Given the description of an element on the screen output the (x, y) to click on. 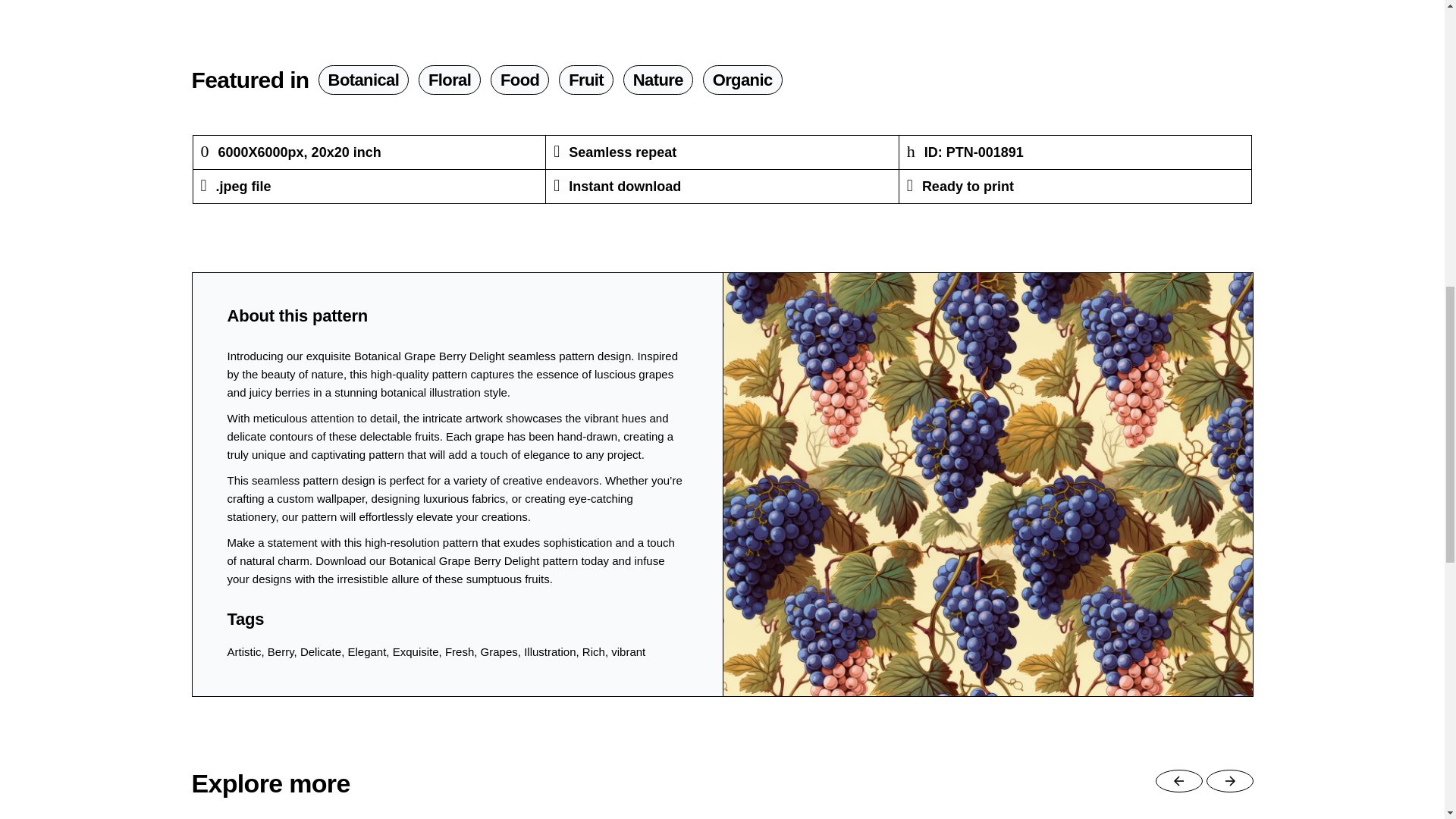
Organic (743, 80)
Botanical (363, 80)
Artistic (244, 651)
Fruit (585, 80)
Floral (449, 80)
Food (519, 80)
Nature (658, 80)
